Given the description of an element on the screen output the (x, y) to click on. 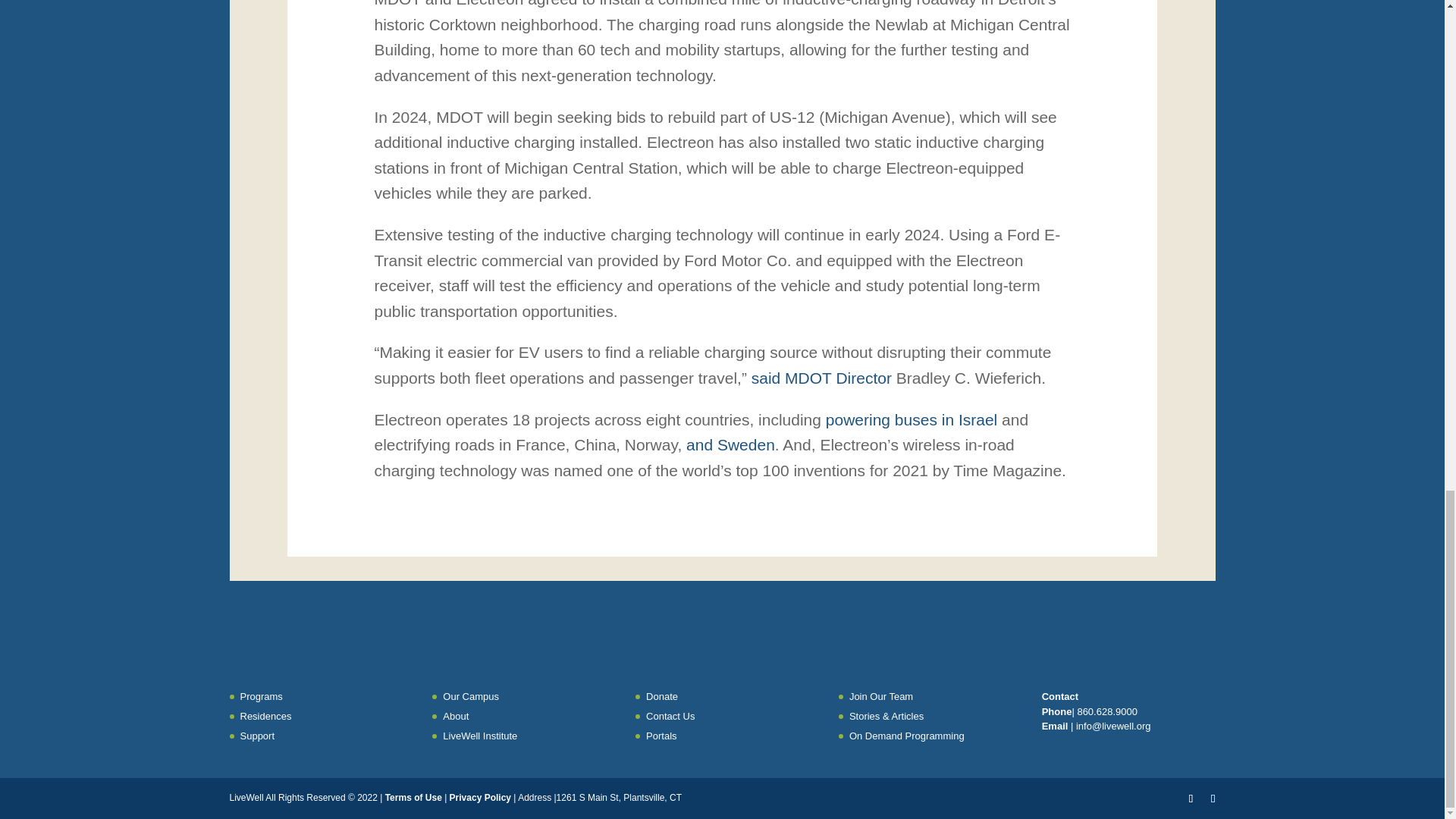
Programs (261, 696)
On Demand Programming (905, 736)
Contact Us (670, 715)
Residences (265, 715)
LiveWell Institute (479, 736)
said MDOT Director (821, 377)
Privacy Policy (481, 797)
Join Our Team (880, 696)
Terms of Use (413, 797)
Support (257, 736)
